Given the description of an element on the screen output the (x, y) to click on. 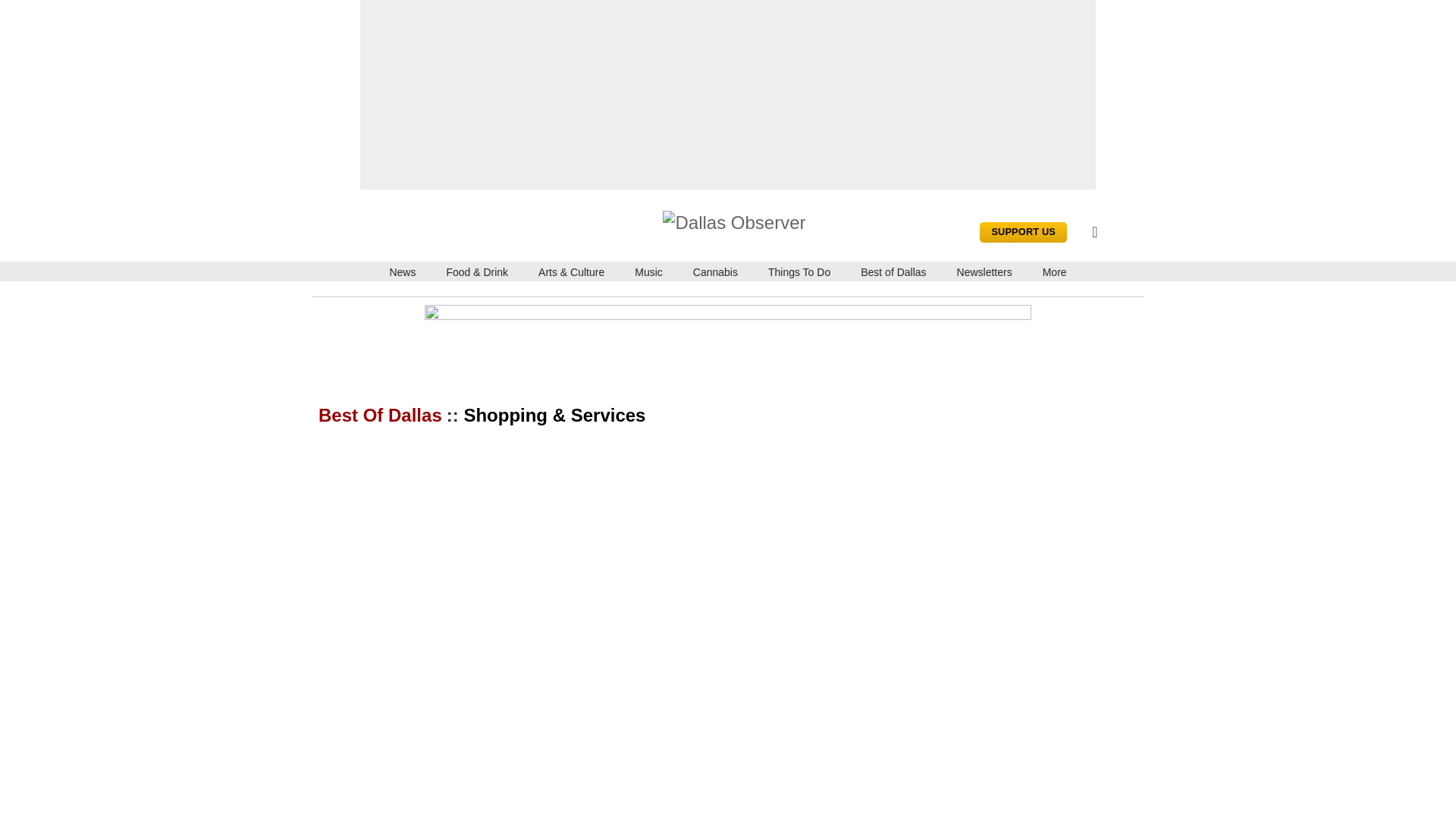
instagram (360, 234)
News (402, 271)
linkedin (430, 234)
Dallas Observer (737, 220)
tiktok (464, 234)
facebook (325, 234)
threads (499, 234)
SUPPORT US (1023, 231)
twitter (395, 234)
Search (1119, 232)
